Given the description of an element on the screen output the (x, y) to click on. 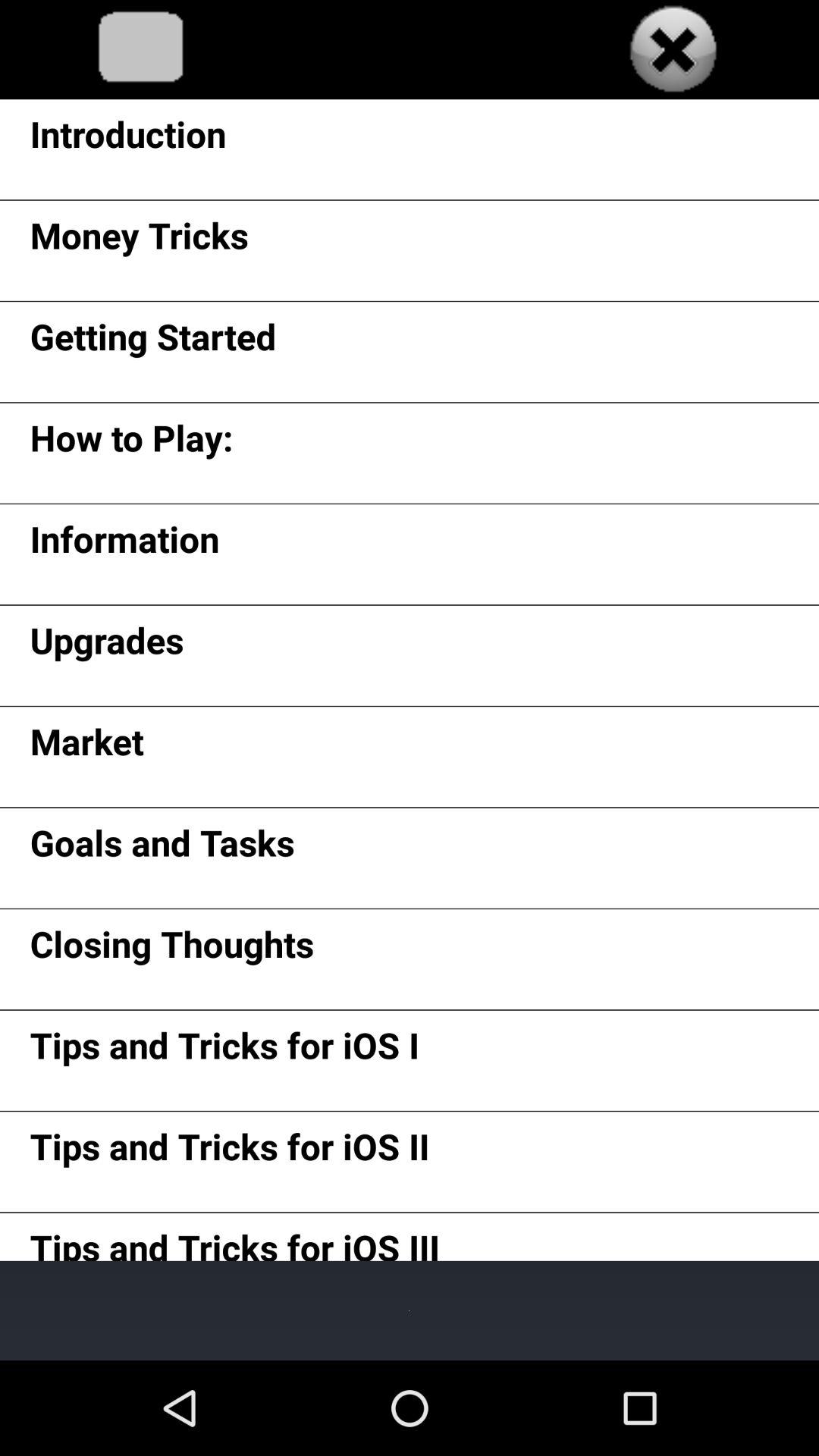
click app below introduction (139, 240)
